Given the description of an element on the screen output the (x, y) to click on. 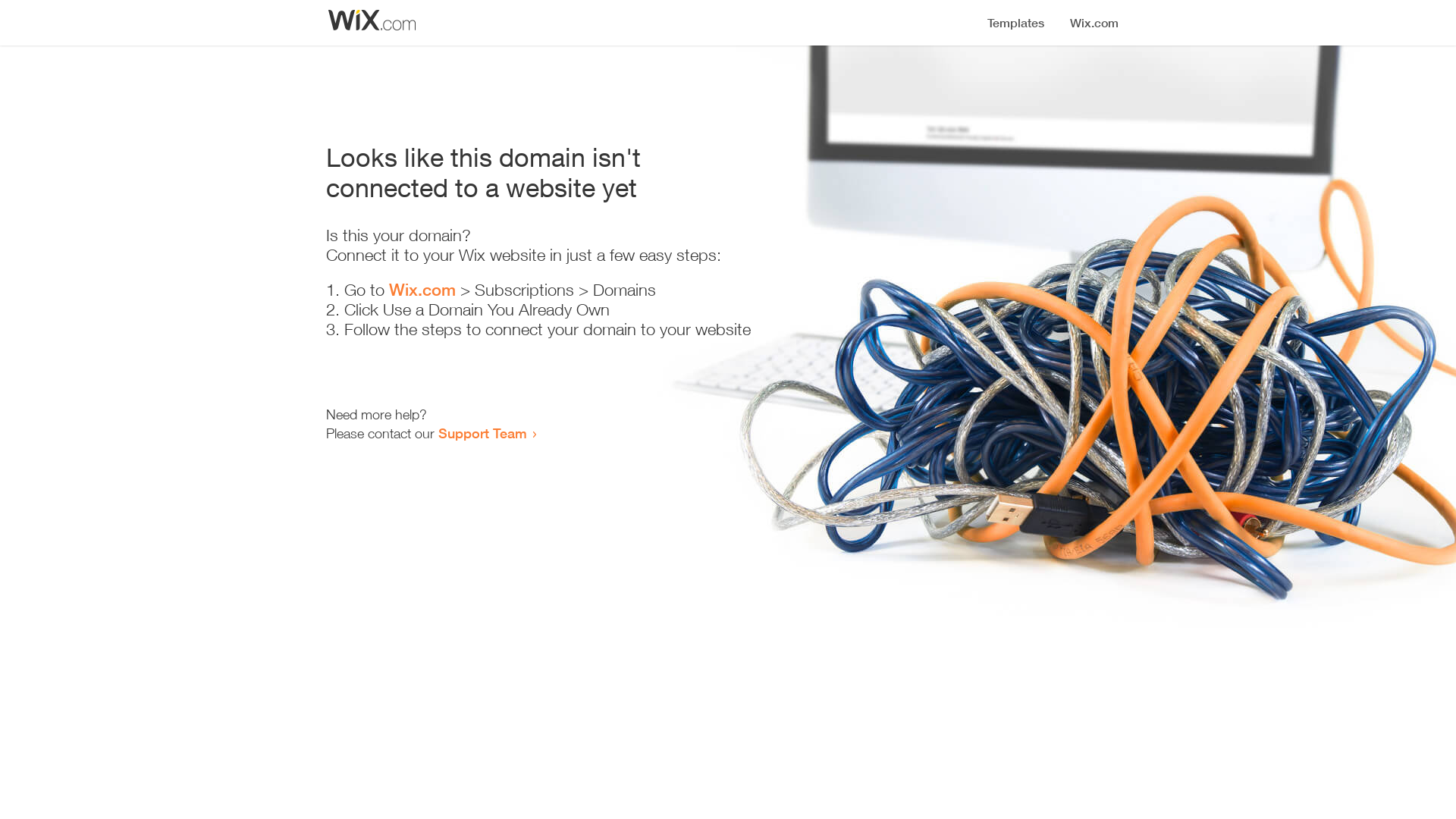
Wix.com Element type: text (422, 289)
Support Team Element type: text (482, 432)
